Given the description of an element on the screen output the (x, y) to click on. 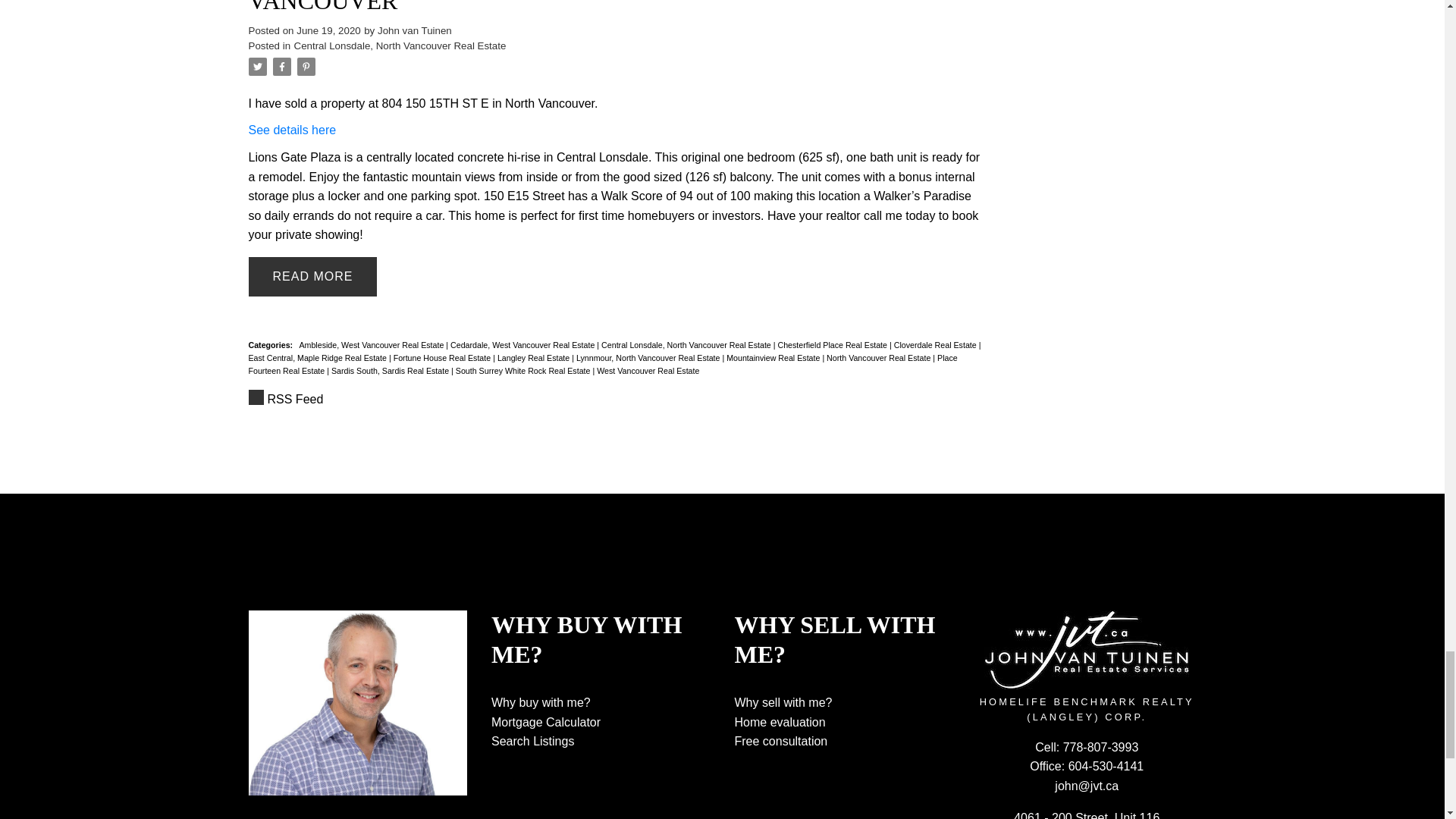
RSS (616, 399)
